Given the description of an element on the screen output the (x, y) to click on. 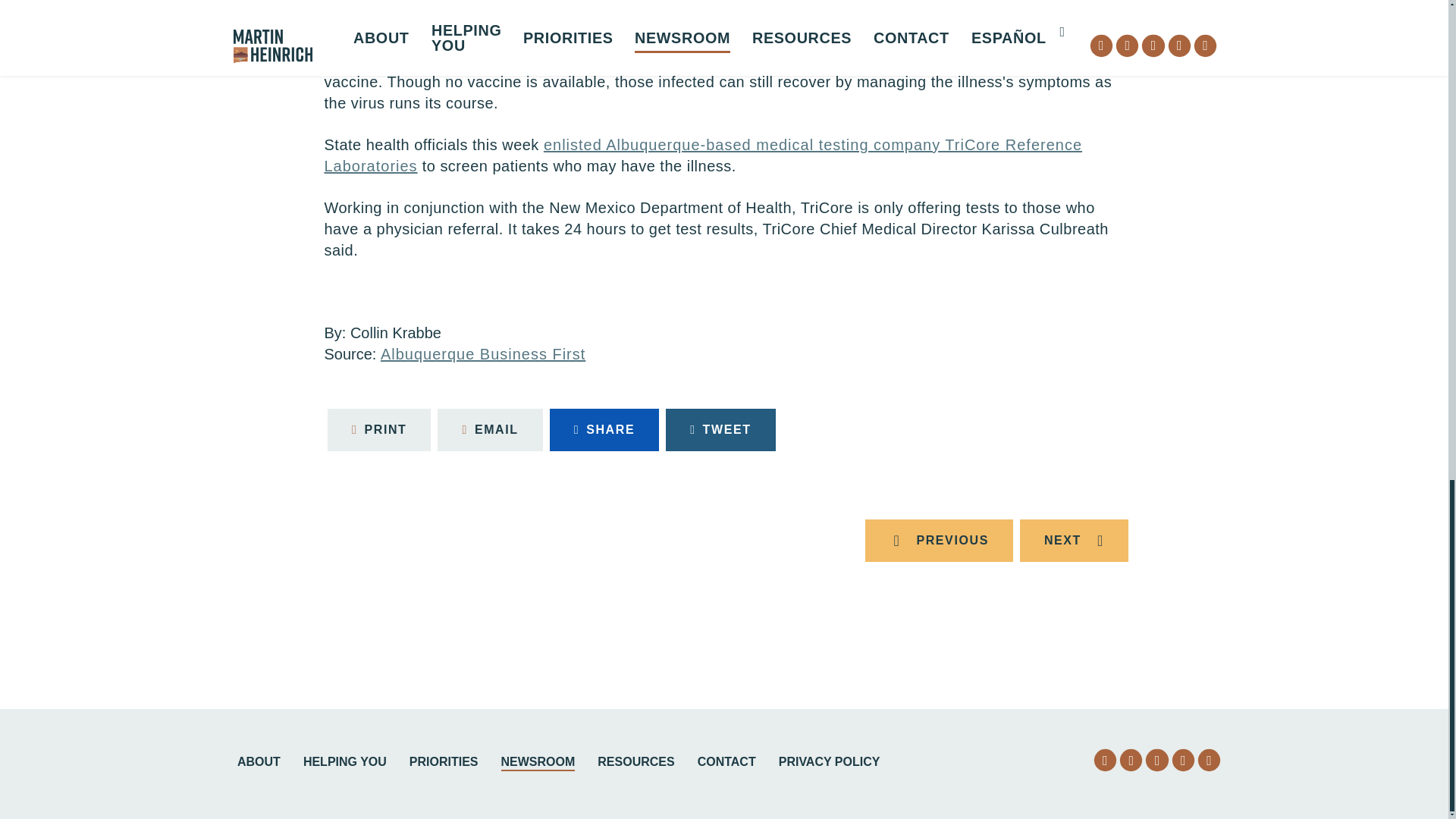
Newsroom (537, 763)
Privacy Policy (829, 763)
Contact (726, 763)
Helping You (344, 763)
Resources (635, 763)
About (259, 763)
Priorities (444, 763)
